Given the description of an element on the screen output the (x, y) to click on. 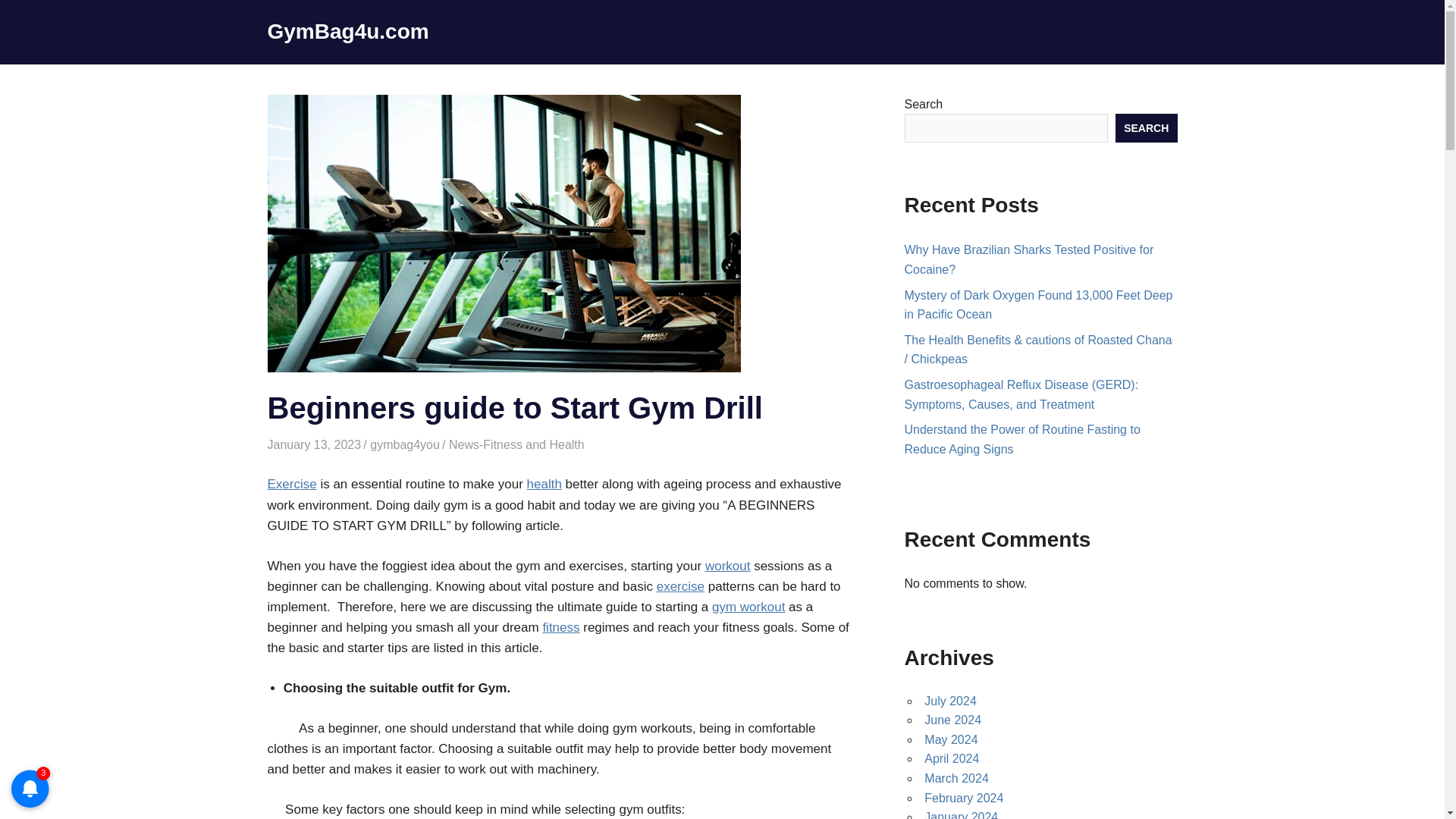
Exercise (290, 483)
fitness (560, 626)
health (544, 483)
workout (727, 565)
View all posts by gymbag4you (404, 444)
January 13, 2023 (313, 444)
gymbag4you (404, 444)
5:28 am (313, 444)
gym workout (747, 606)
GymBag4u.com (347, 31)
News-Fitness and Health (516, 444)
SEARCH (1146, 127)
Why Have Brazilian Sharks Tested Positive for Cocaine? (1028, 259)
exercise (680, 586)
